Given the description of an element on the screen output the (x, y) to click on. 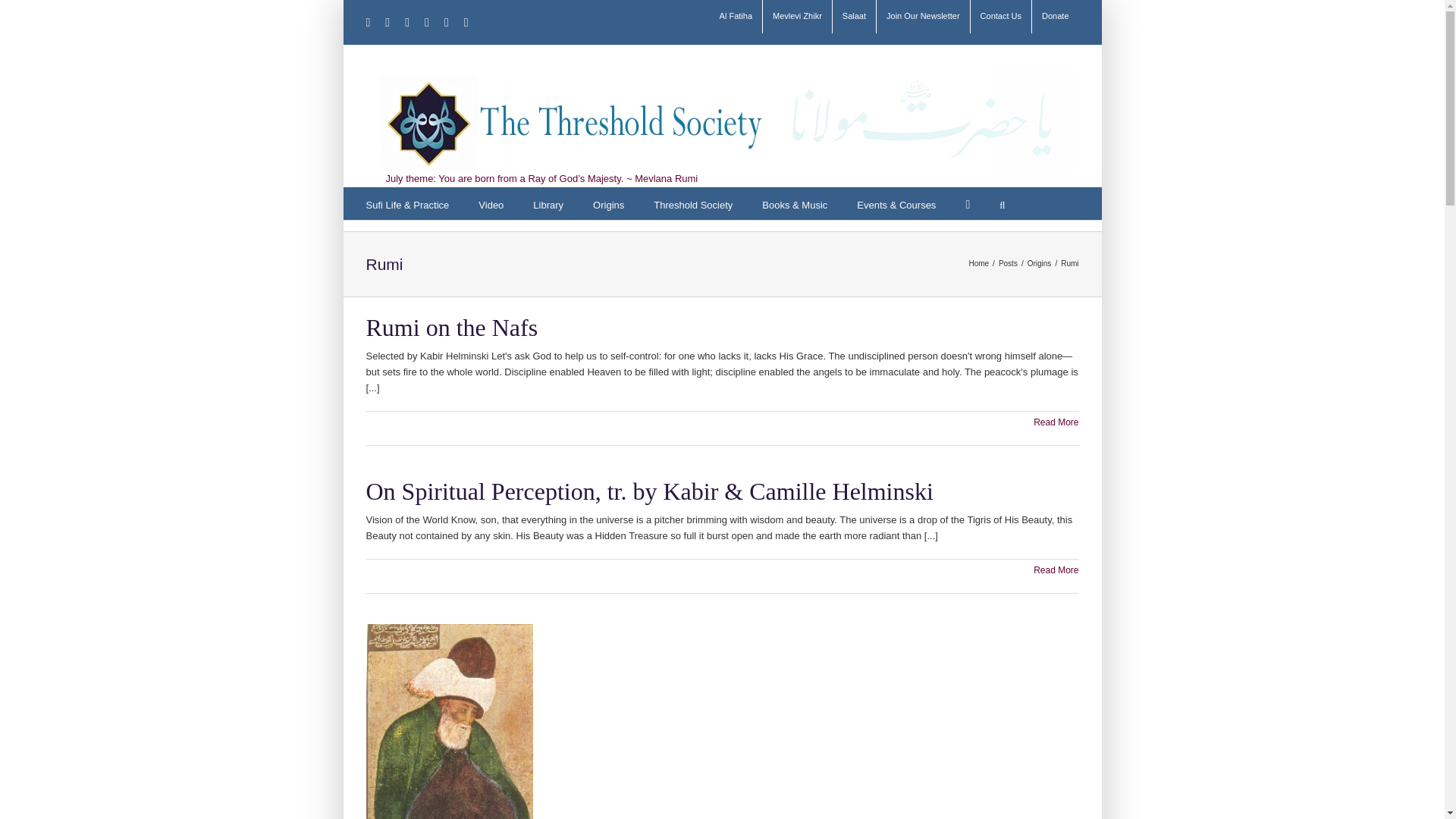
Salaat (854, 16)
Contact Us (1000, 16)
Al Fatiha (735, 16)
Mevlevi Zhikr (796, 16)
Join Our Newsletter (922, 16)
Origins (608, 203)
Donate (1055, 16)
Library (547, 203)
